Given the description of an element on the screen output the (x, y) to click on. 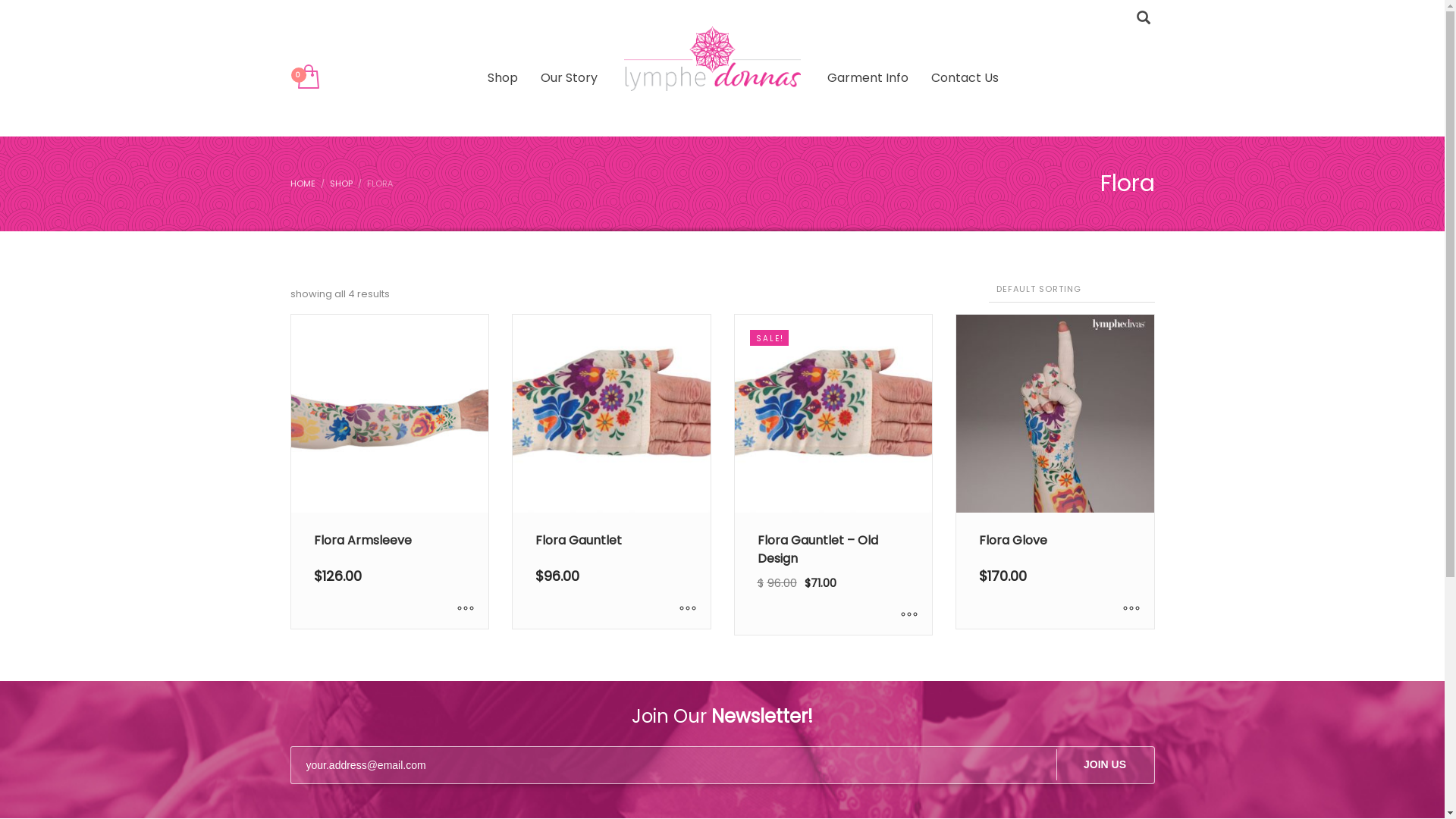
HOME Element type: text (301, 183)
Garment Info Element type: text (867, 77)
SHOP Element type: text (340, 183)
Contact Us Element type: text (964, 77)
Flora Armsleeve
$126.00 Element type: text (390, 471)
Facebook Element type: hover (300, 18)
Our Story Element type: text (568, 77)
View your shopping cart Element type: hover (306, 77)
JOIN US Element type: text (1104, 765)
Flora Glove
$170.00 Element type: text (1055, 471)
Flora Gauntlet
$96.00 Element type: text (611, 471)
Shop Element type: text (502, 77)
